Given the description of an element on the screen output the (x, y) to click on. 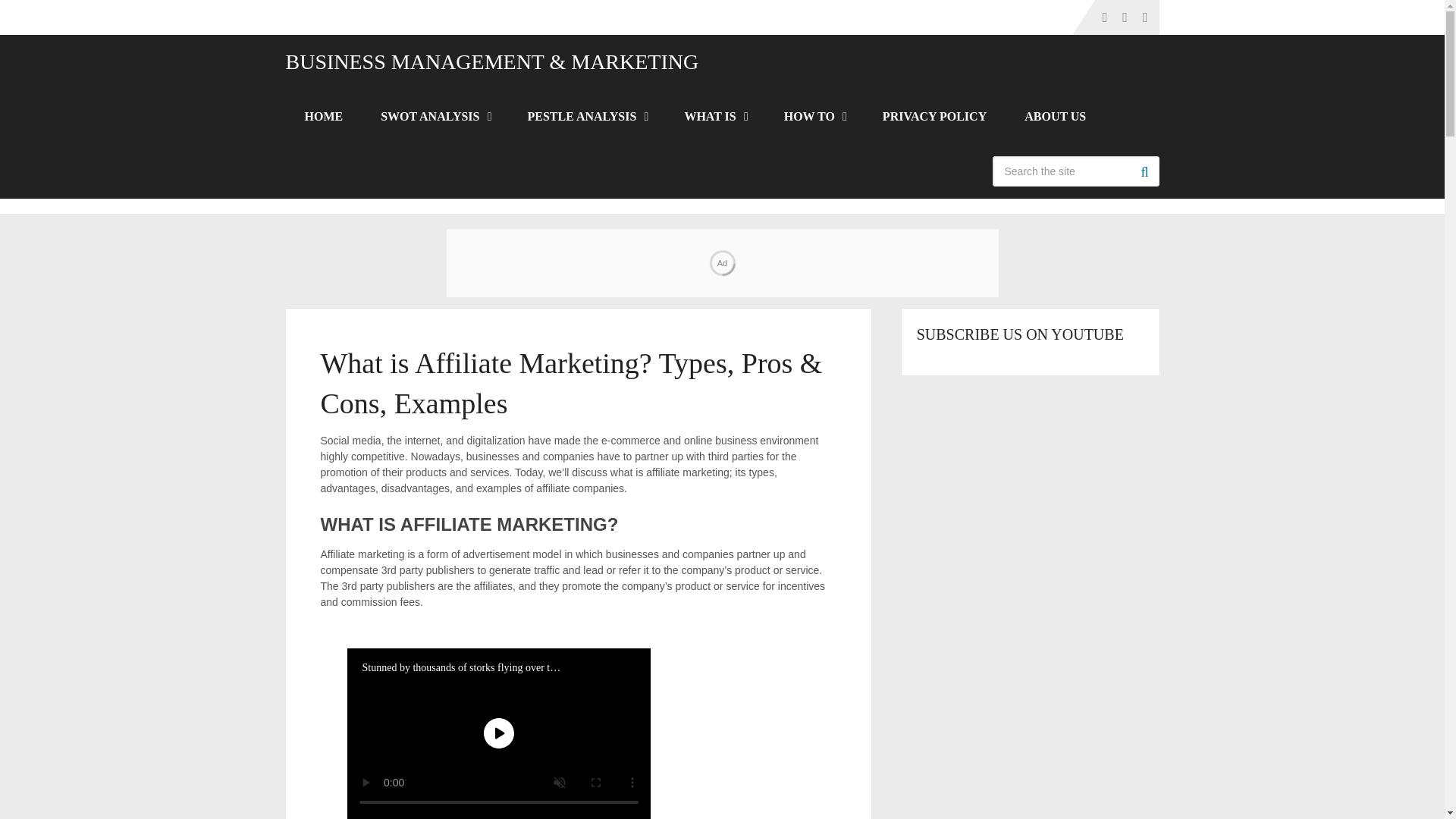
WHAT IS (714, 116)
HOW TO (814, 116)
Search (1143, 171)
SWOT ANALYSIS (434, 116)
ABOUT US (1055, 116)
HOME (323, 116)
PRIVACY POLICY (934, 116)
PESTLE ANALYSIS (586, 116)
